Given the description of an element on the screen output the (x, y) to click on. 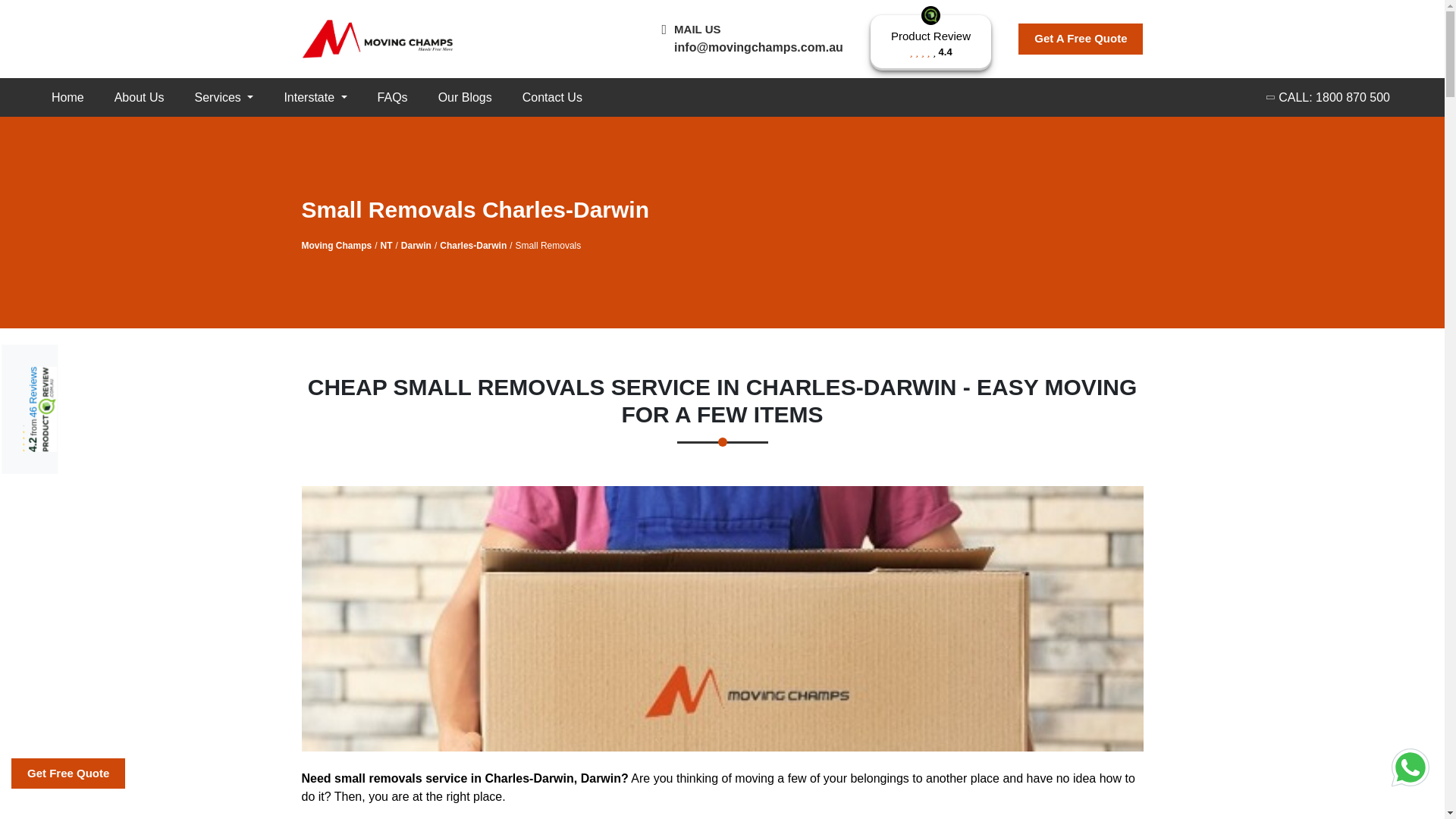
Darwin (415, 245)
Contact Us (551, 97)
About Moving Champs  (139, 97)
CALL: 1800 870 500 (1329, 97)
Get A Free Quote (1079, 38)
Moving Services (223, 97)
About Us (139, 97)
FAQs (392, 97)
Moving Services (314, 97)
Cheap Moving Company Near Me (67, 97)
